Given the description of an element on the screen output the (x, y) to click on. 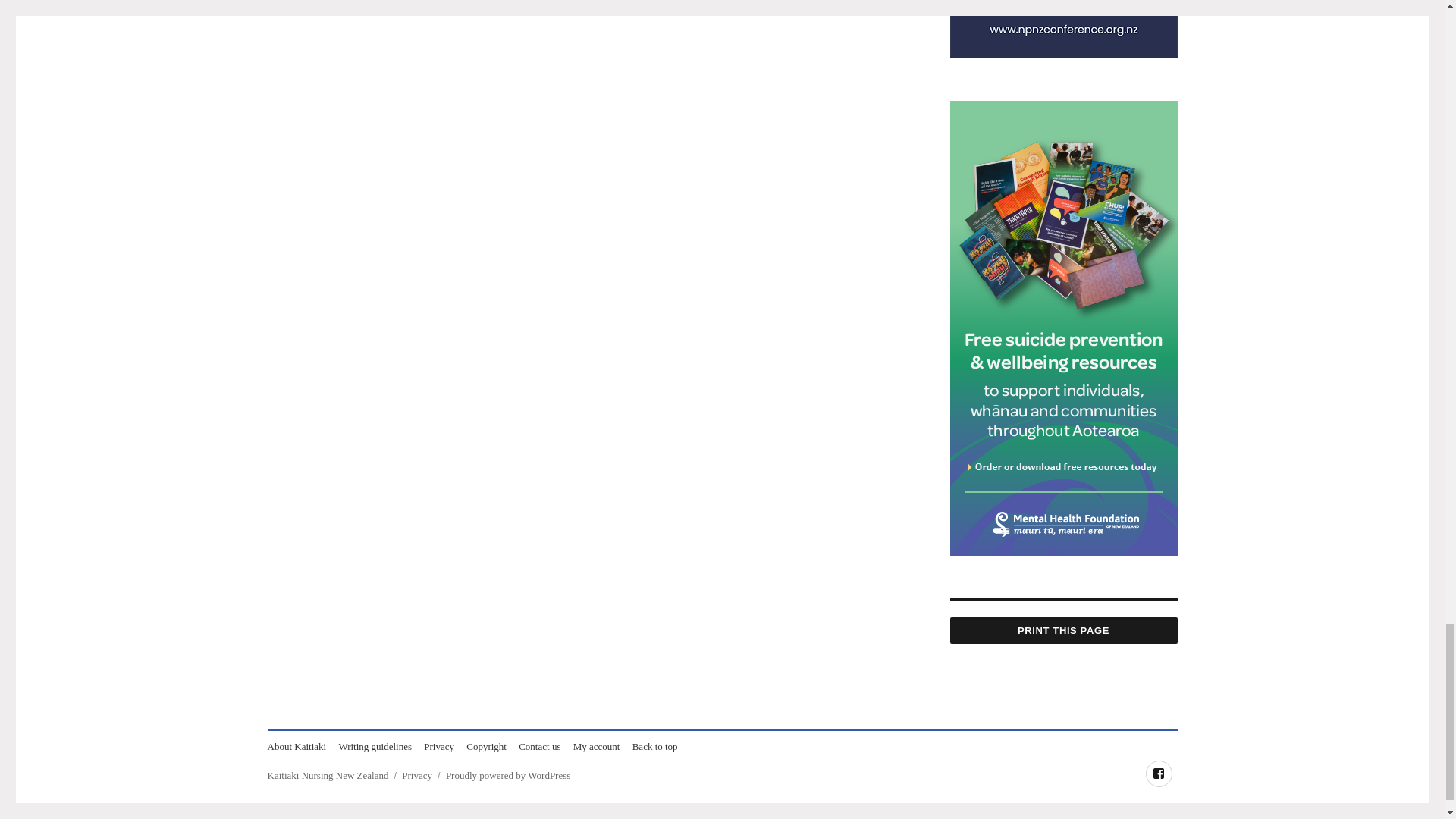
Print this page (1062, 630)
